Given the description of an element on the screen output the (x, y) to click on. 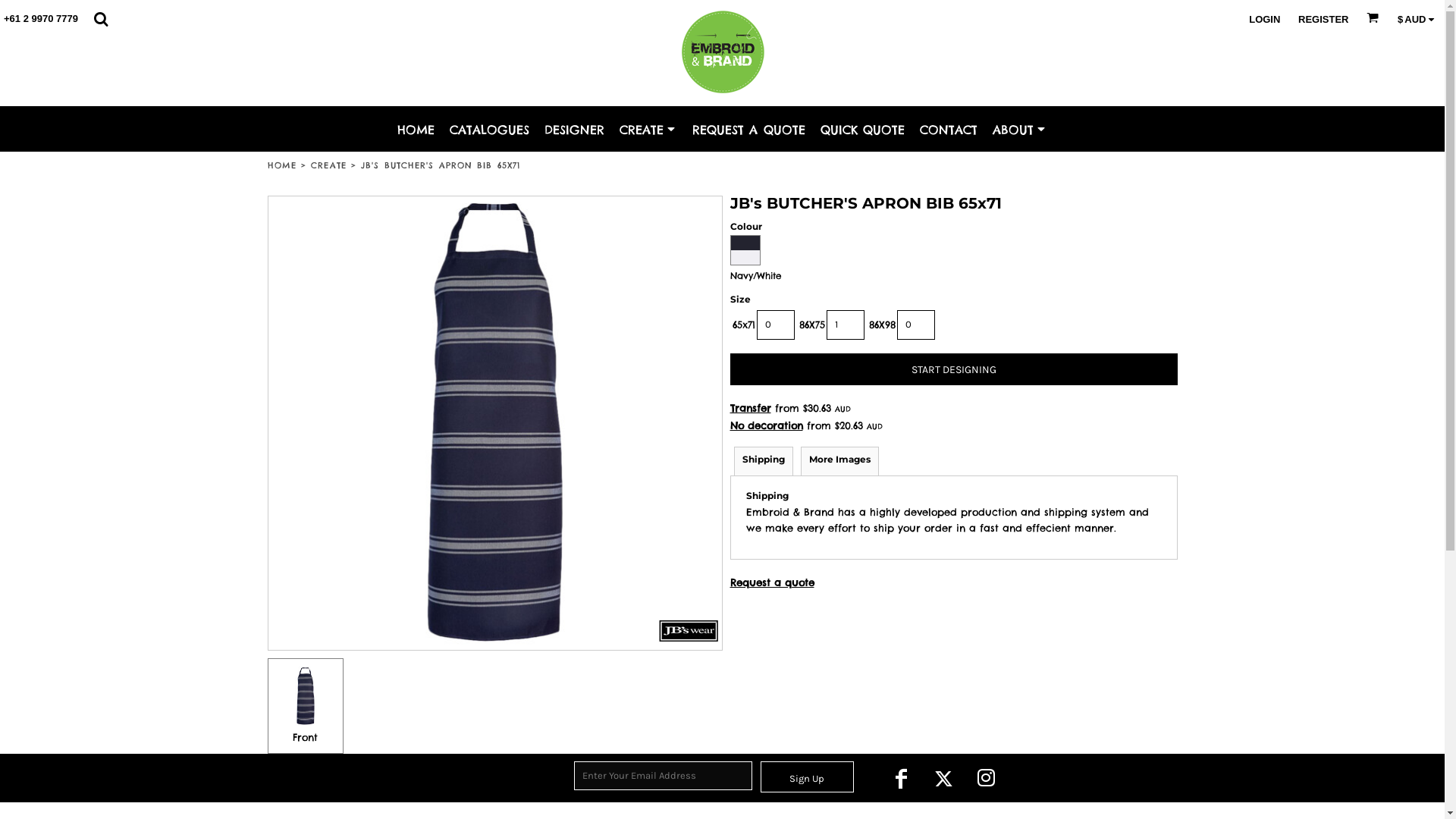
CREATE Element type: text (328, 165)
Request a quote Element type: text (771, 582)
HOME Element type: text (415, 128)
HOME Element type: text (280, 165)
Navy/White Element type: hover (744, 250)
Sign Up Element type: text (806, 776)
REGISTER Element type: text (1323, 19)
CATALOGUES Element type: text (489, 128)
CREATE Element type: text (648, 128)
QUICK QUOTE Element type: text (862, 128)
ABOUT Element type: text (1019, 128)
Transfer Element type: text (749, 407)
CONTACT Element type: text (948, 128)
Front Element type: text (304, 706)
START DESIGNING Element type: text (952, 369)
LOGIN Element type: text (1264, 19)
DESIGNER Element type: text (574, 128)
No decoration Element type: text (765, 425)
REQUEST A QUOTE Element type: text (748, 128)
as Element type: text (11, 7)
